Given the description of an element on the screen output the (x, y) to click on. 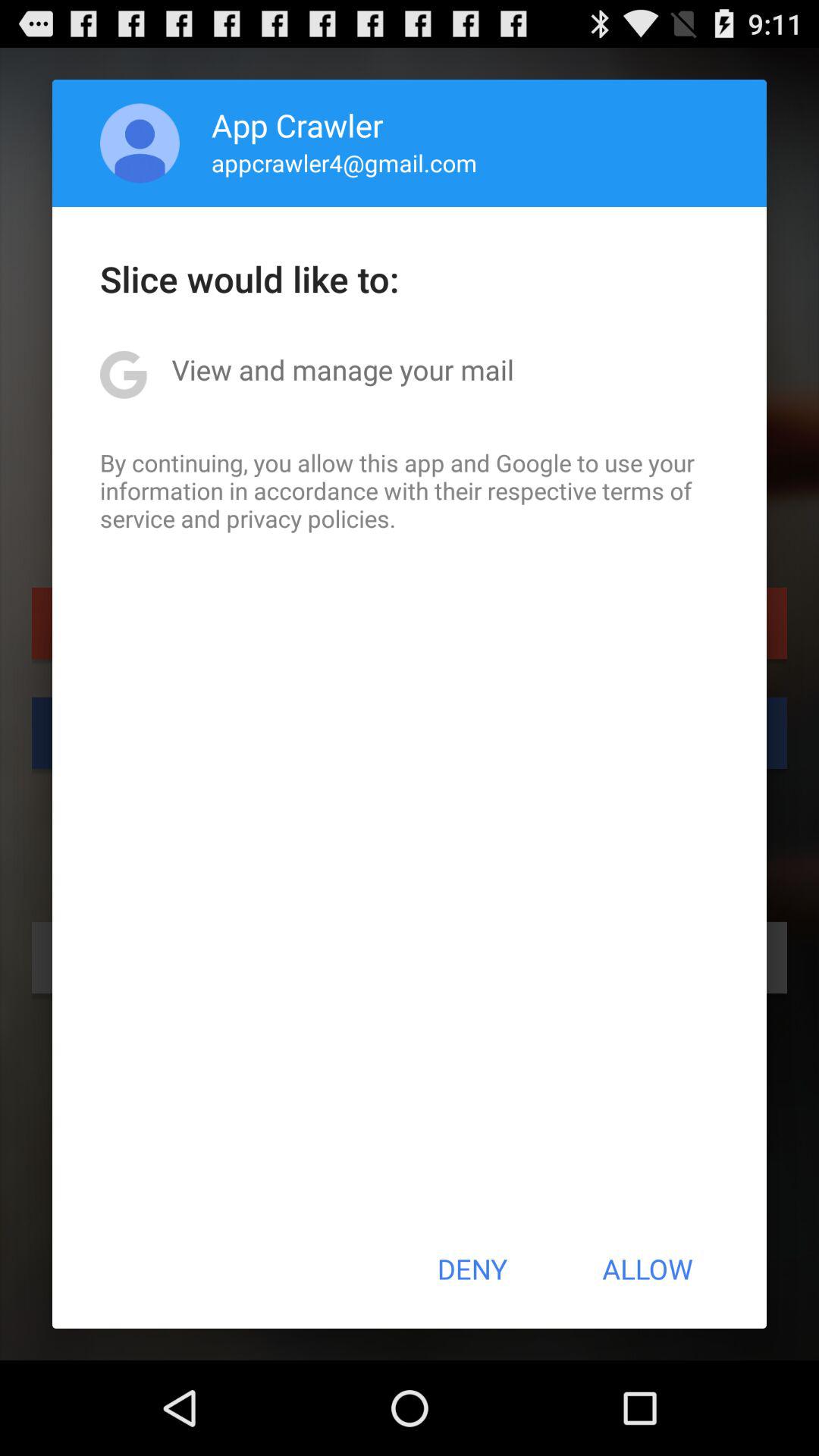
open icon to the left of the allow item (471, 1268)
